Given the description of an element on the screen output the (x, y) to click on. 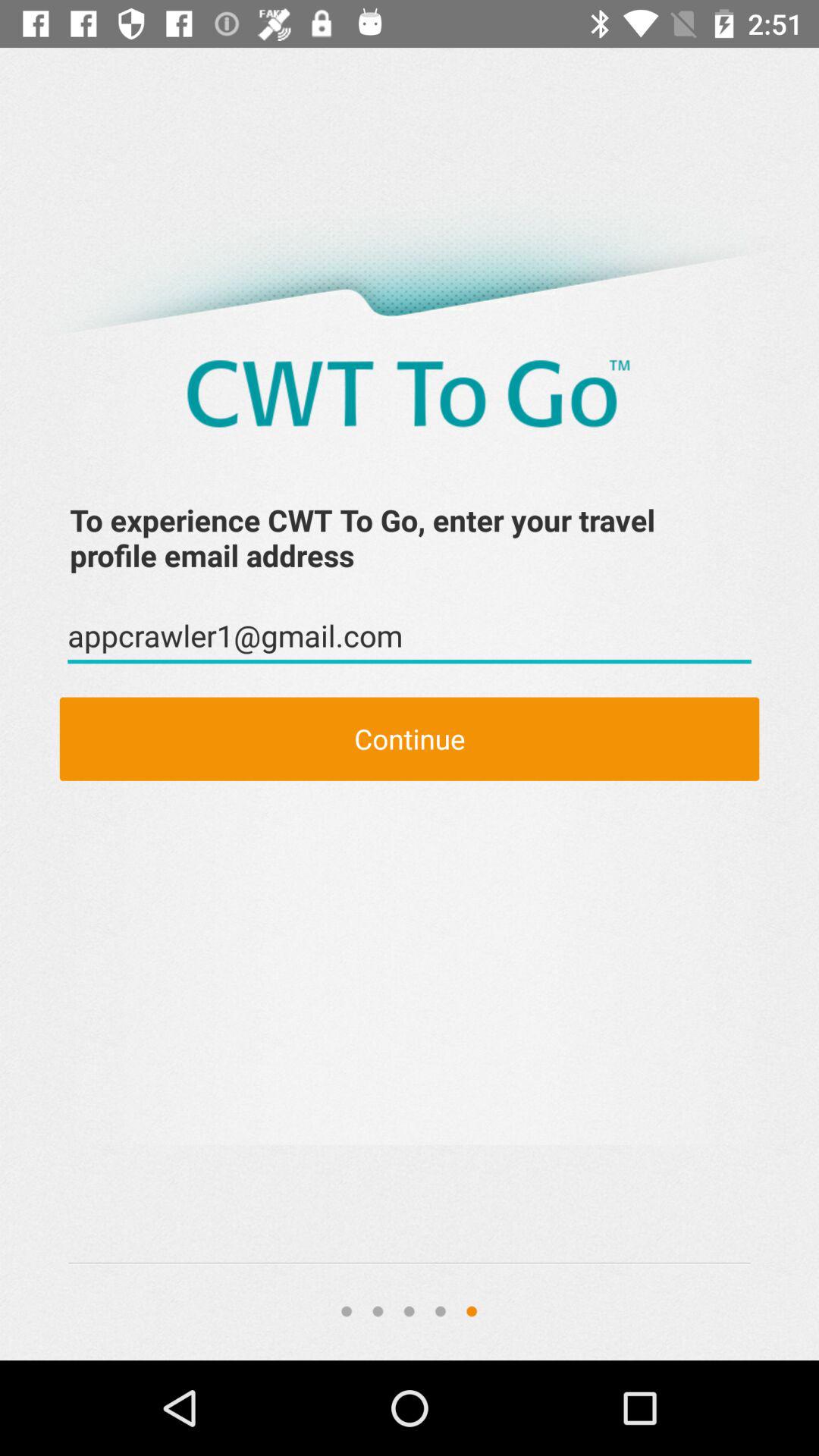
turn off item above the continue (409, 636)
